Given the description of an element on the screen output the (x, y) to click on. 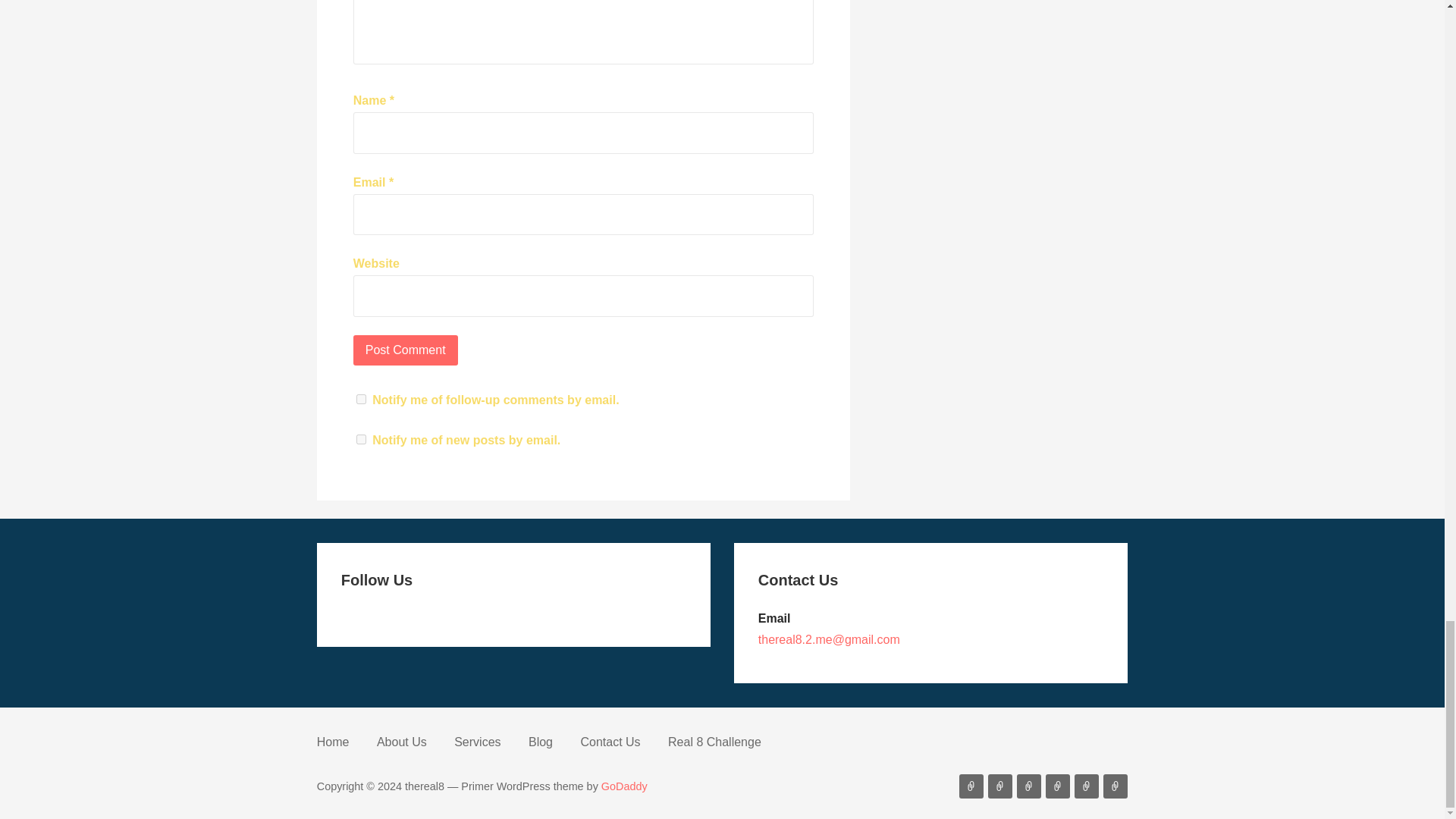
Post Comment (405, 349)
subscribe (361, 439)
Home (333, 741)
Blog (540, 741)
Services (477, 741)
Post Comment (405, 349)
About Us (401, 741)
subscribe (361, 398)
Contact Us (609, 741)
